Given the description of an element on the screen output the (x, y) to click on. 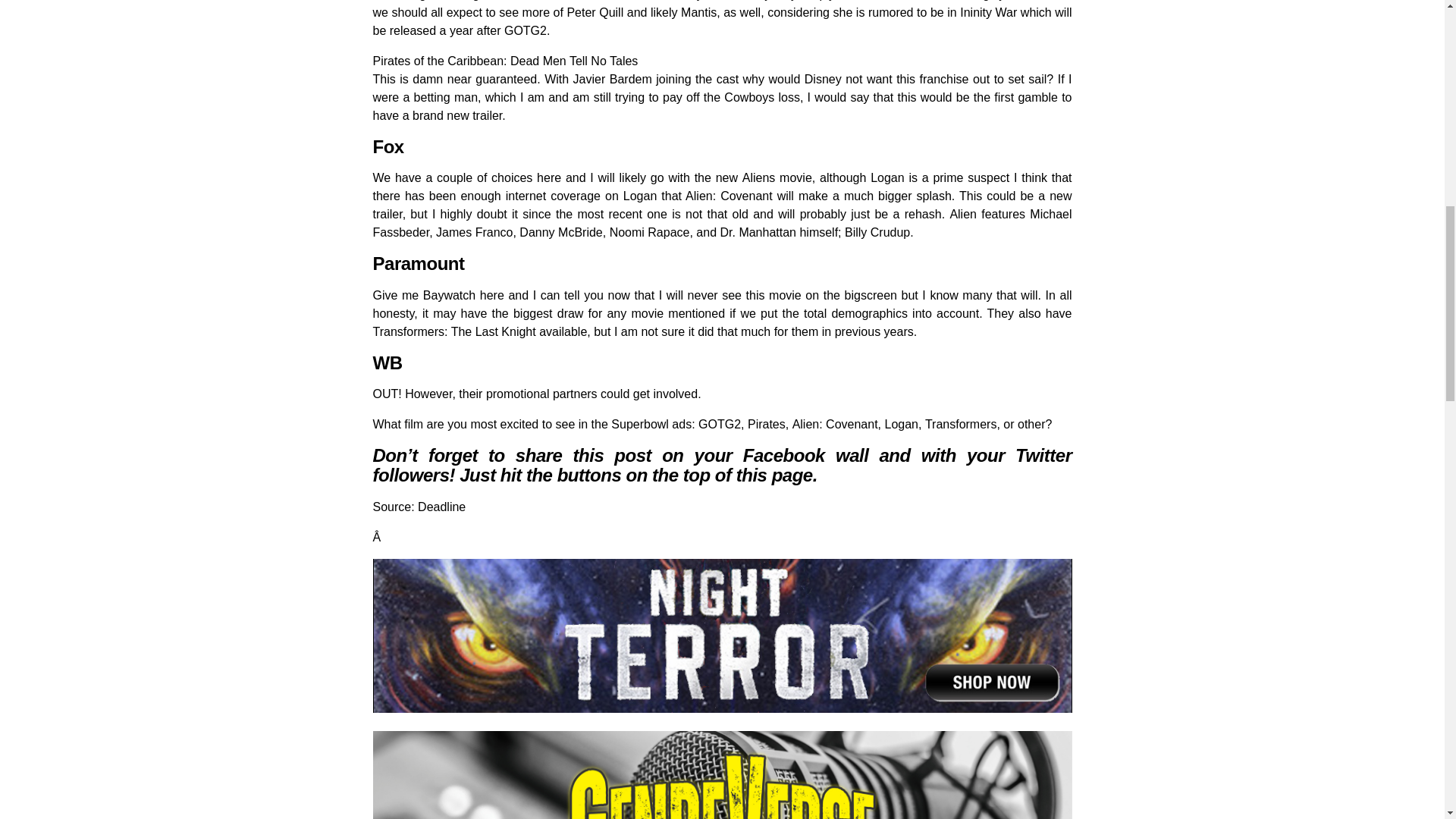
Deadline (441, 506)
